Given the description of an element on the screen output the (x, y) to click on. 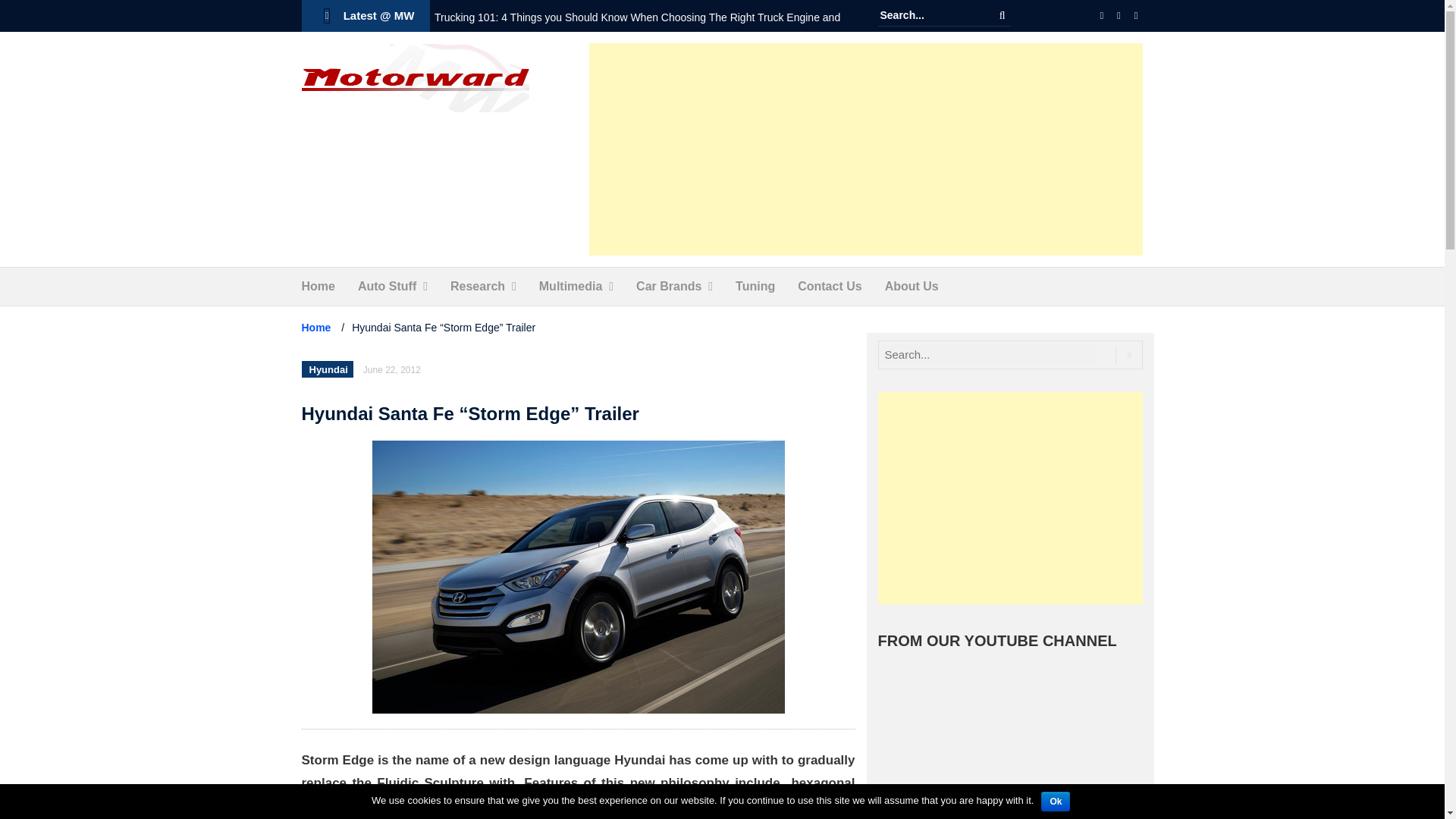
Research (477, 286)
Hyundai Santa Fe (577, 576)
Advertisement (865, 149)
Auto Stuff (387, 286)
Home (317, 286)
Search   (1002, 14)
Advertisement (1009, 498)
